Given the description of an element on the screen output the (x, y) to click on. 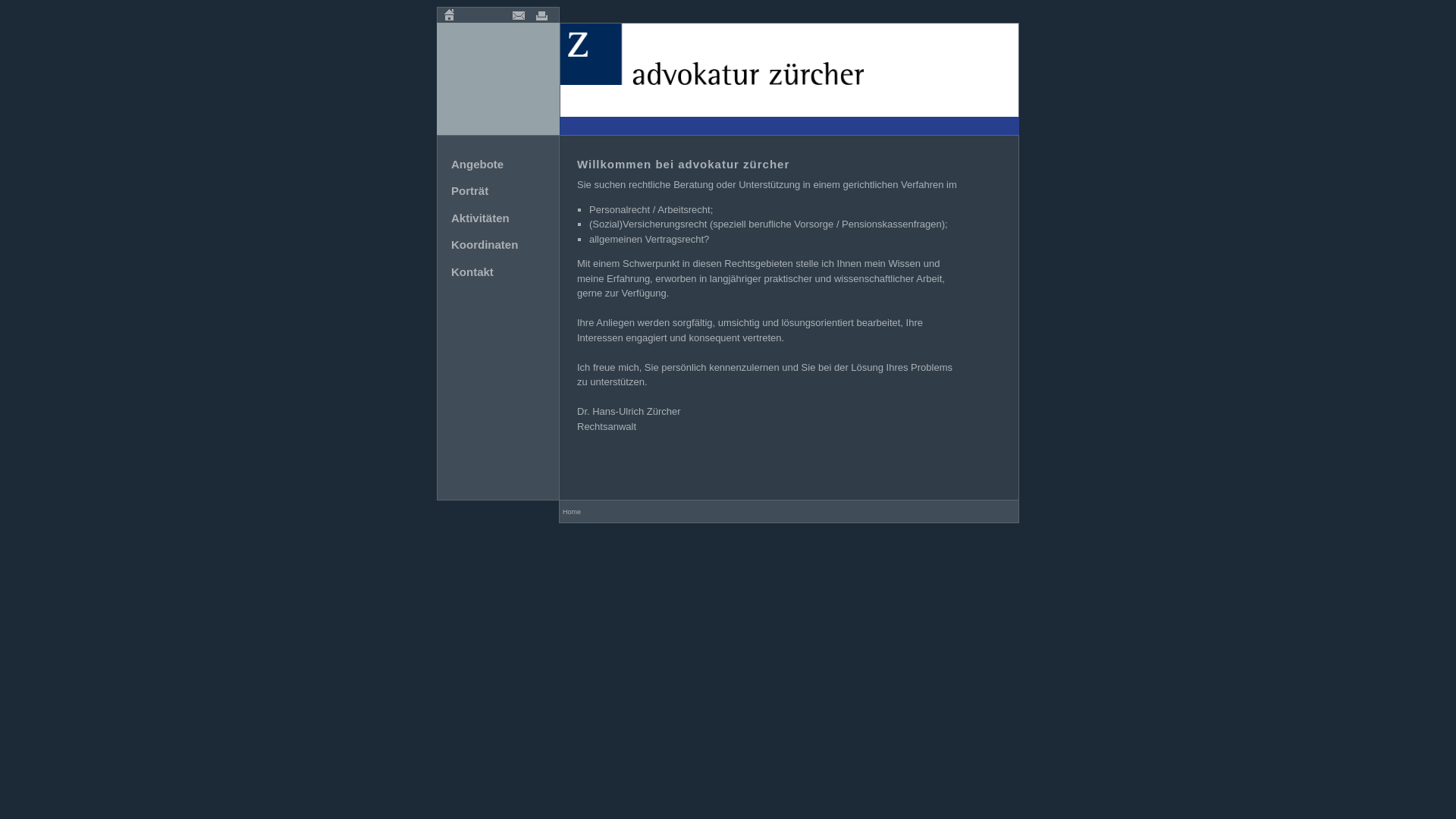
Home Element type: text (571, 511)
Home Element type: hover (448, 14)
Angebote Element type: text (477, 163)
Kontakt Element type: text (472, 271)
Drucken Element type: hover (541, 14)
Kontakt Element type: hover (517, 14)
Koordinaten Element type: text (484, 244)
